Given the description of an element on the screen output the (x, y) to click on. 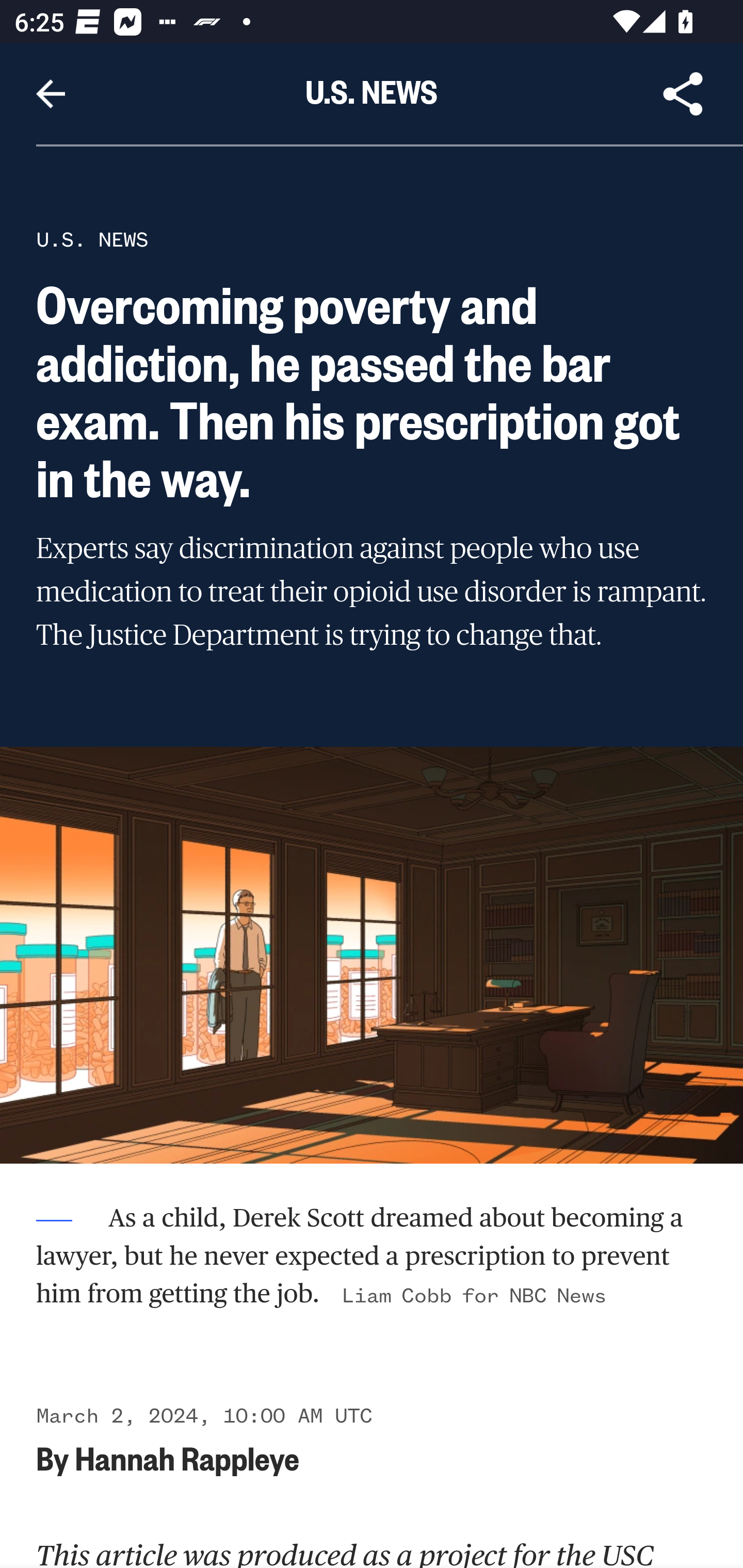
Navigate up (50, 93)
Share Article, button (683, 94)
U.S. NEWS (91, 239)
